Given the description of an element on the screen output the (x, y) to click on. 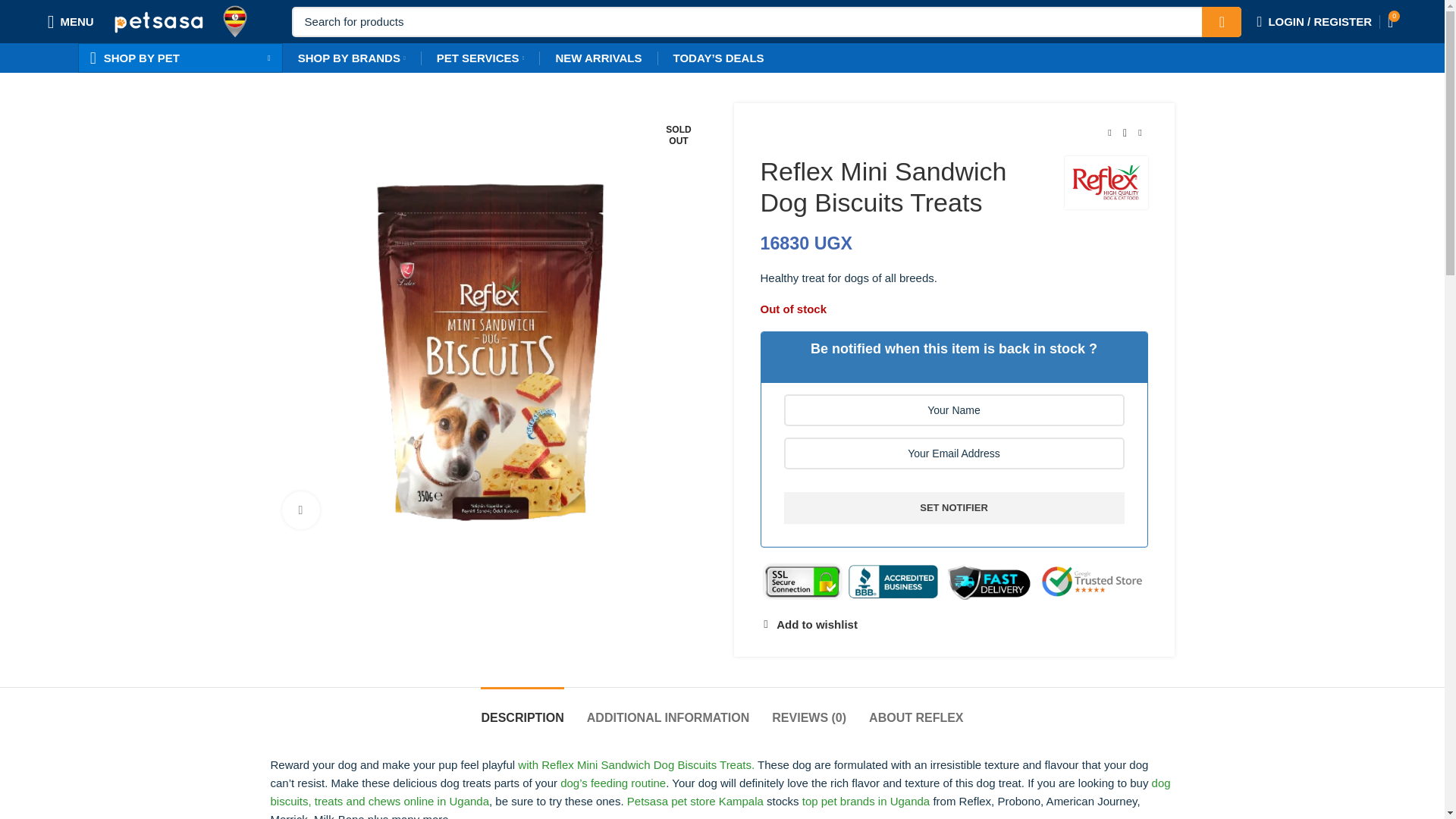
Set Notifier (954, 508)
SEARCH (1221, 20)
MENU (70, 20)
SHOP BY BRANDS (351, 57)
Search for products (766, 20)
Shopping cart (1390, 20)
0 (1390, 20)
My account (1313, 20)
